Given the description of an element on the screen output the (x, y) to click on. 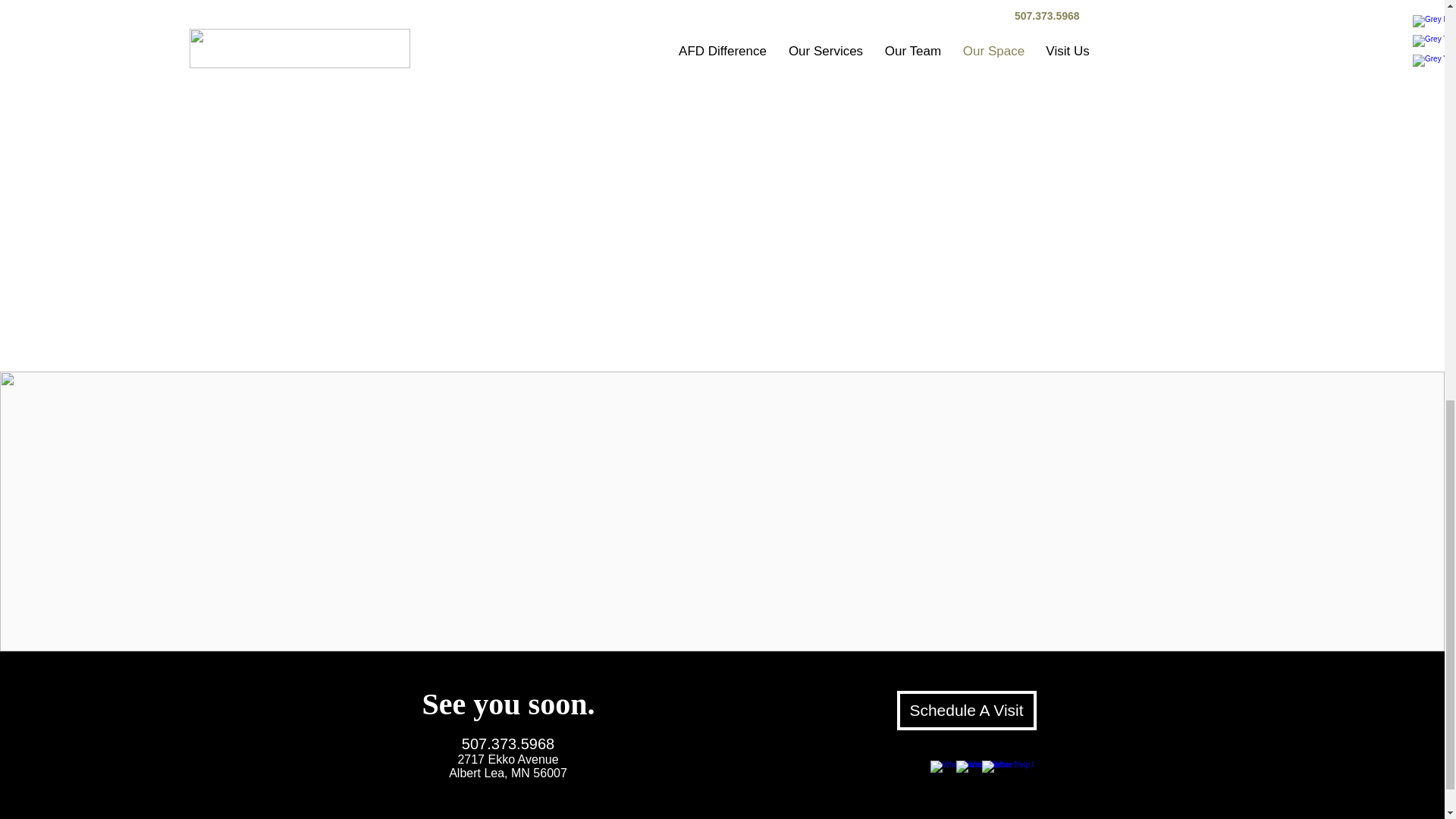
Schedule A Visit (507, 765)
507.373.5968 (965, 709)
